Given the description of an element on the screen output the (x, y) to click on. 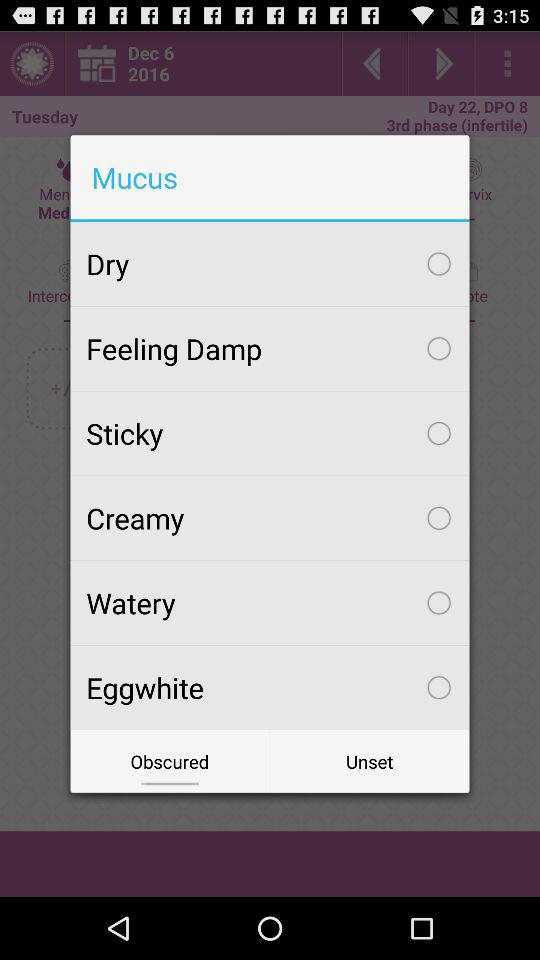
choose item above the eggwhite checkbox (269, 603)
